Given the description of an element on the screen output the (x, y) to click on. 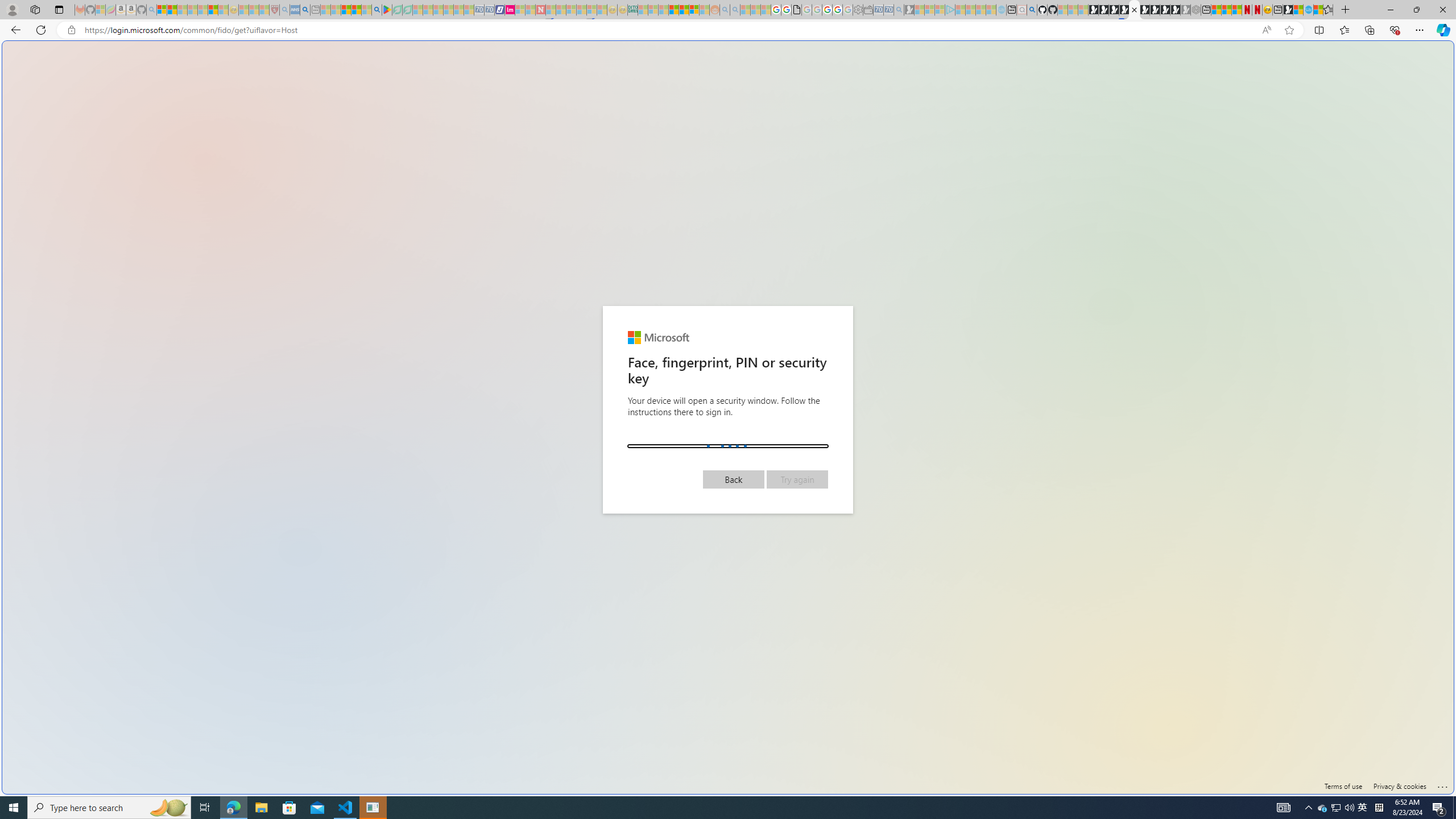
Local - MSN - Sleeping (263, 9)
Frequently visited (965, 151)
